Given the description of an element on the screen output the (x, y) to click on. 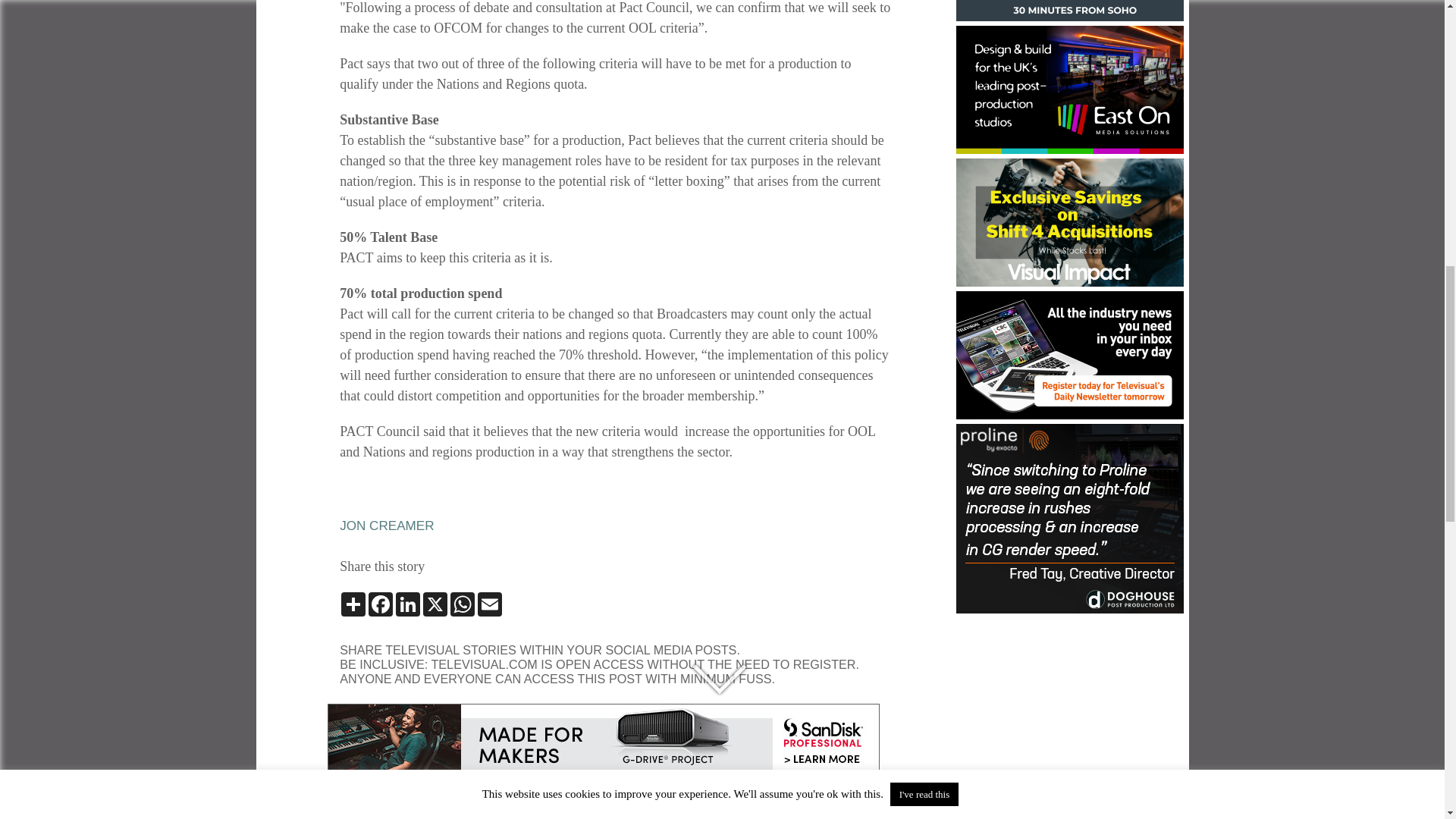
Email (489, 604)
Facebook (380, 604)
JON CREAMER (386, 525)
LinkedIn (408, 604)
X (435, 604)
WhatsApp (462, 604)
